Given the description of an element on the screen output the (x, y) to click on. 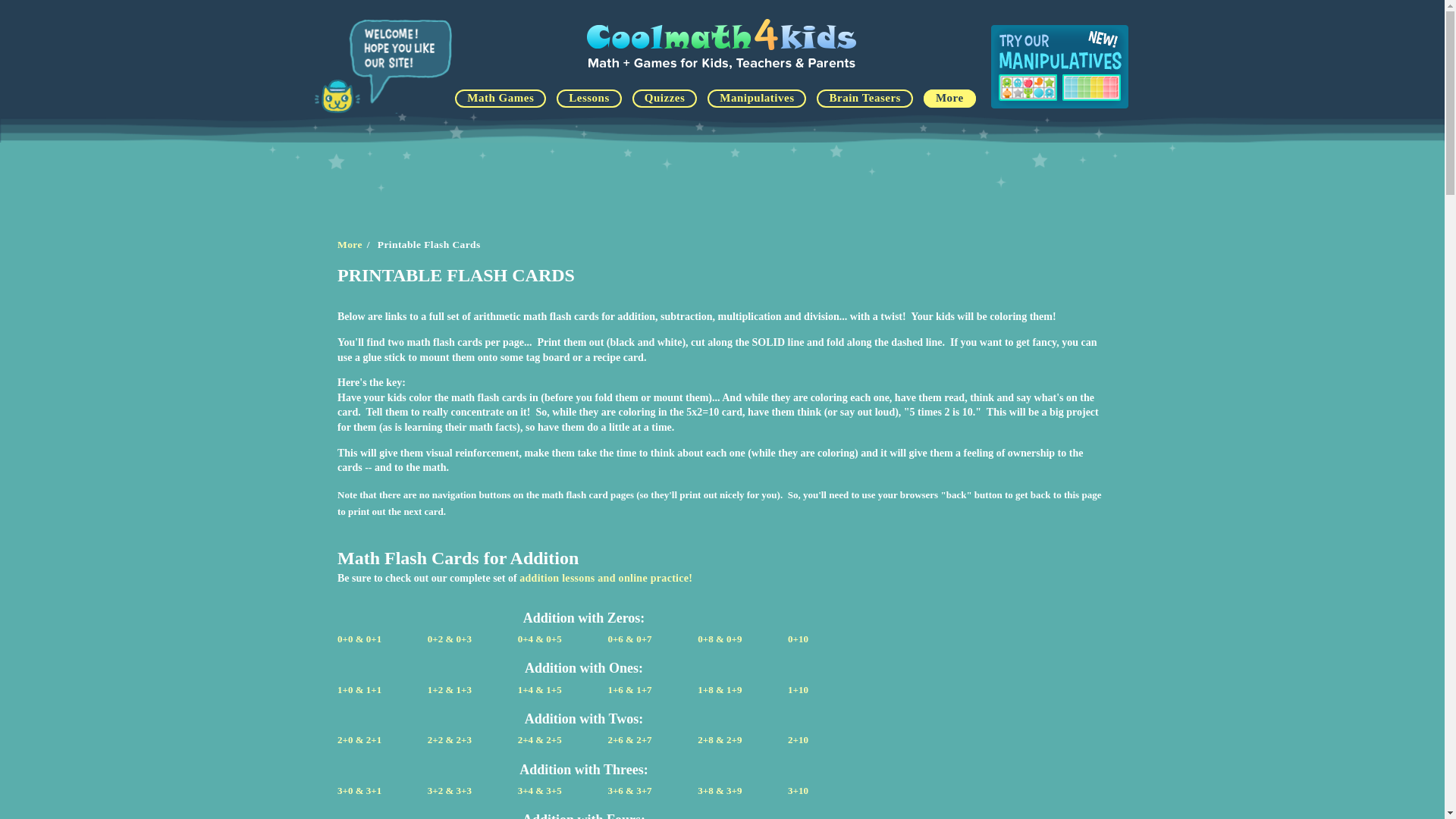
More (349, 244)
Quizzes (664, 98)
Manipulatives (756, 98)
More (949, 98)
addition lessons and online practice! (606, 577)
Lessons (588, 98)
Home (722, 69)
Brain Teasers (864, 98)
Manipulatives (1059, 66)
Math Games (500, 98)
